Given the description of an element on the screen output the (x, y) to click on. 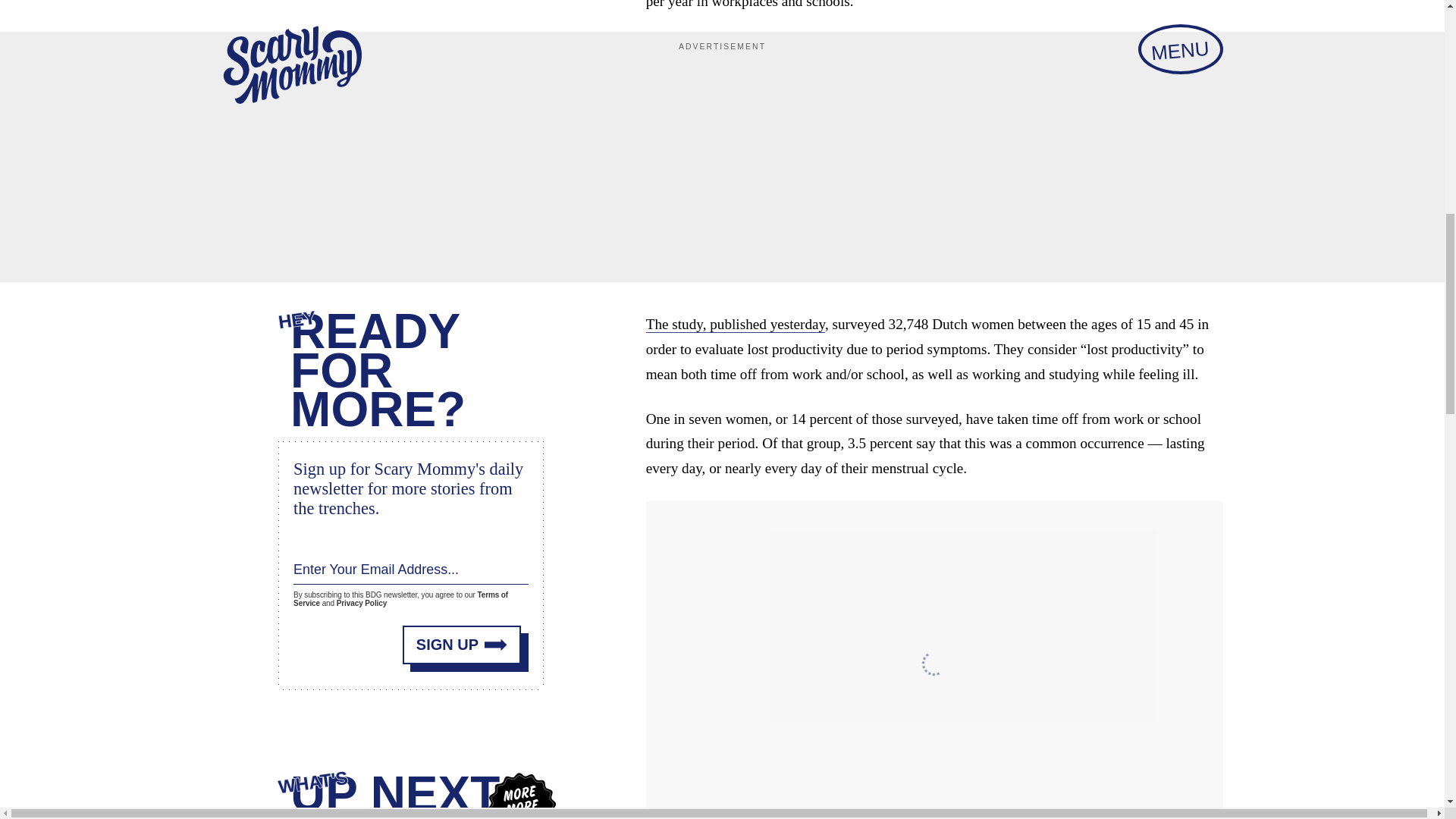
SIGN UP (462, 640)
Terms of Service (401, 596)
Privacy Policy (361, 602)
The study, published yesterday (735, 324)
